Given the description of an element on the screen output the (x, y) to click on. 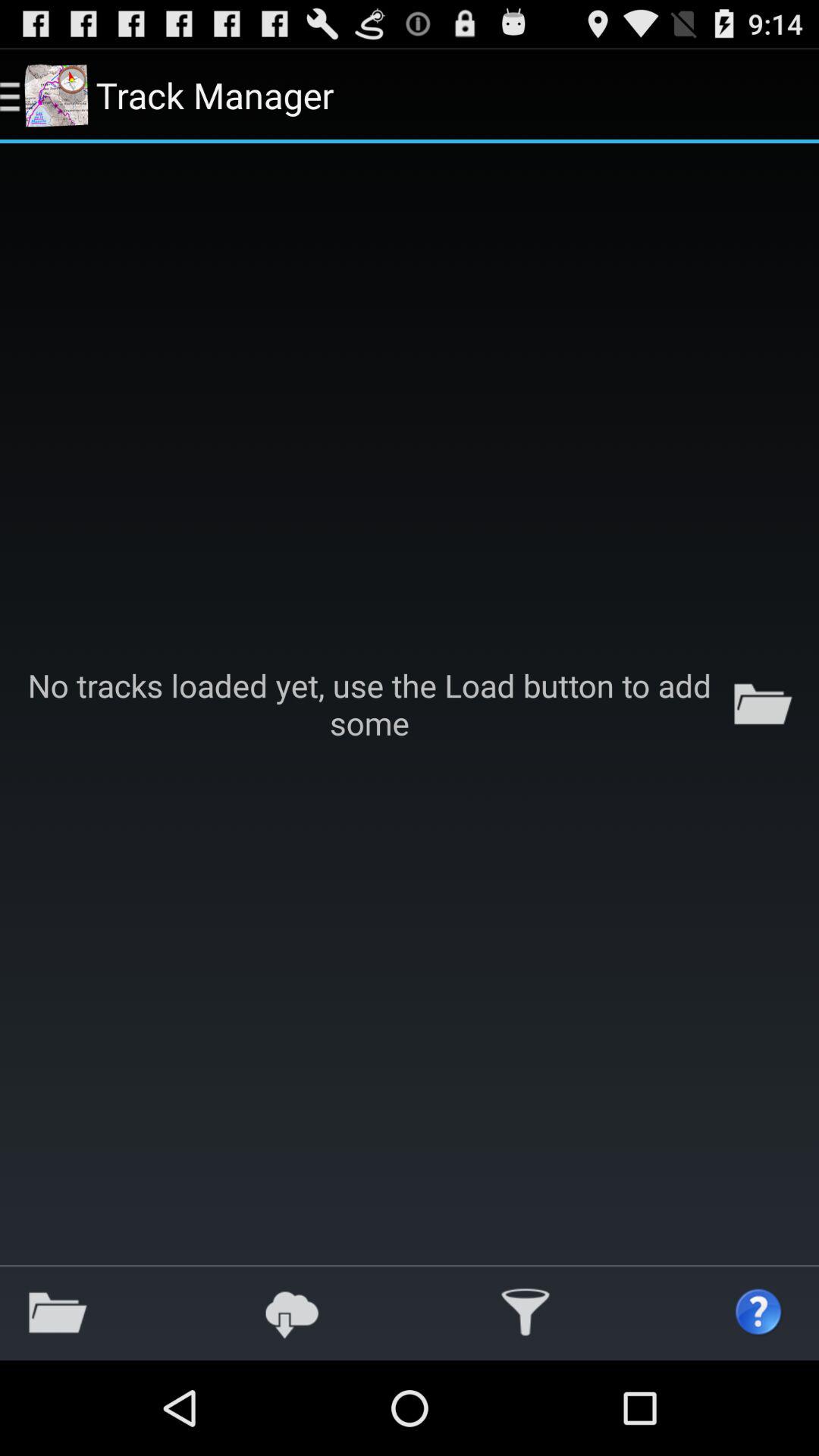
launch the icon at the center (409, 703)
